Given the description of an element on the screen output the (x, y) to click on. 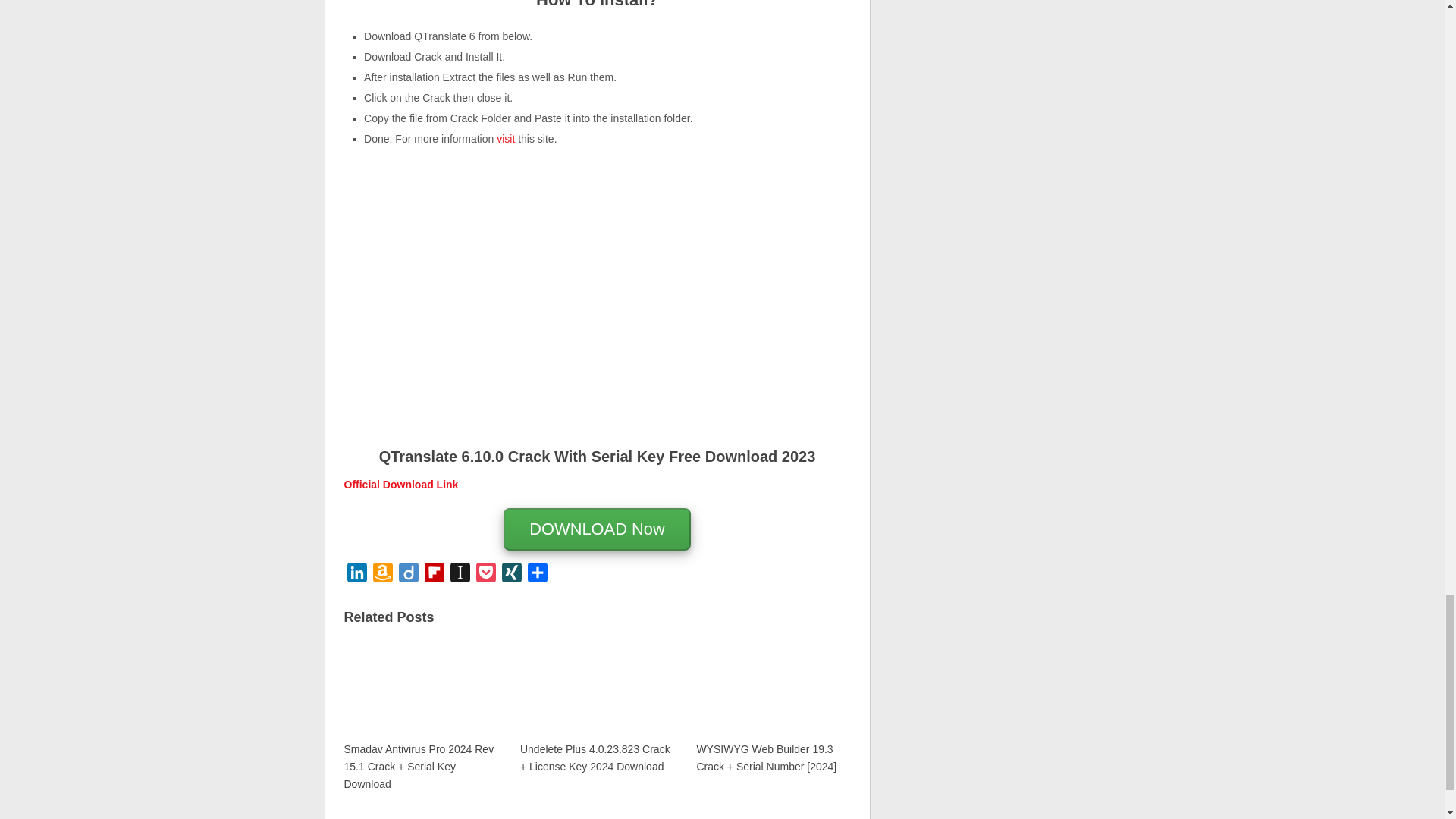
Pocket (486, 575)
Flipboard (434, 575)
XING (511, 575)
Diigo (409, 575)
LinkedIn (356, 575)
Flipboard (434, 575)
Amazon Wish List (382, 575)
DOWNLOAD Now (596, 530)
Instapaper (459, 575)
Pocket (486, 575)
